Given the description of an element on the screen output the (x, y) to click on. 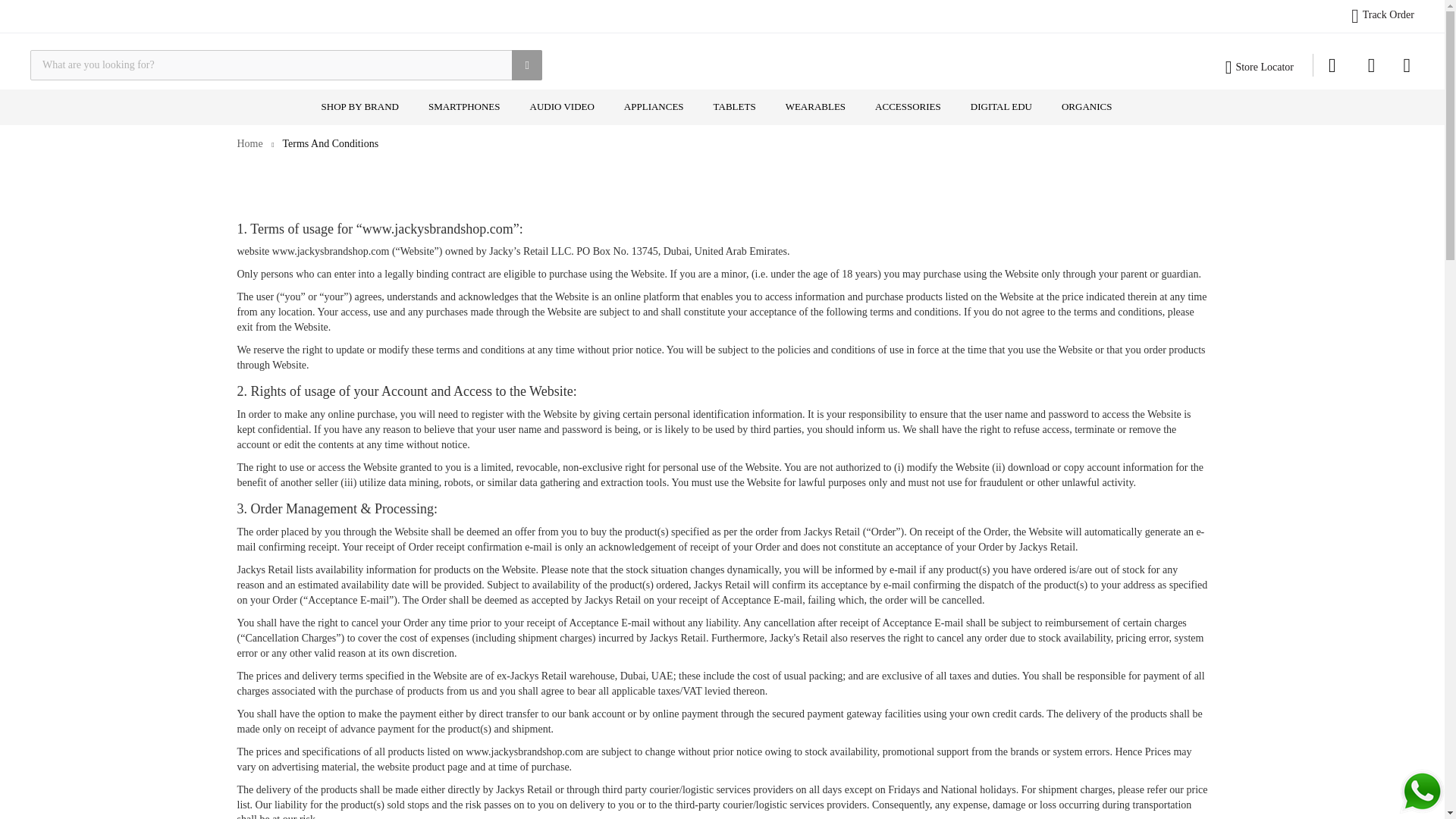
SHOP BY BRAND (360, 107)
Store Locator (1264, 66)
Search (526, 64)
Go to Home Page (248, 143)
Track Order (1387, 14)
